Given the description of an element on the screen output the (x, y) to click on. 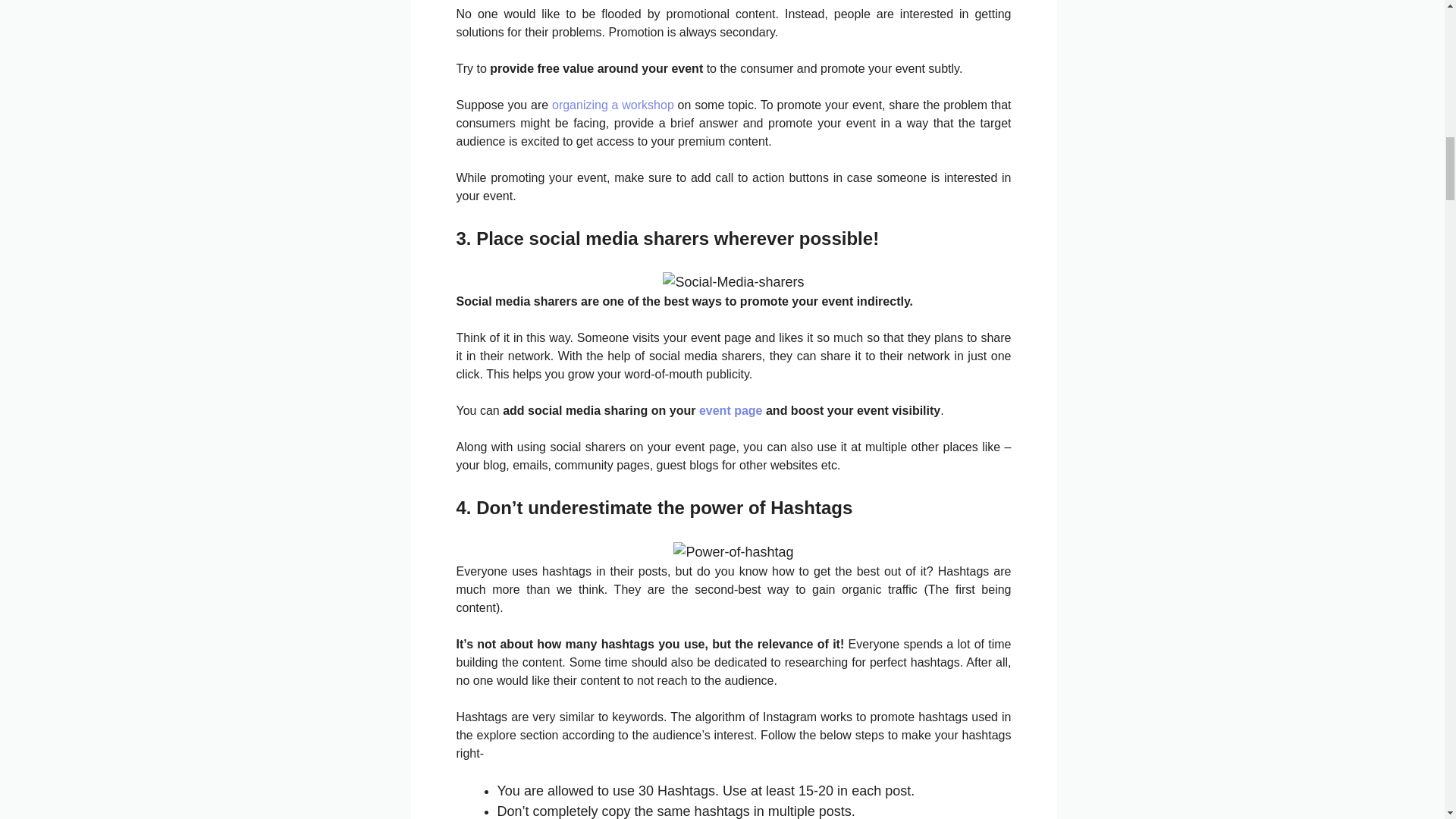
Use hashtags to promote an event (732, 552)
event page (730, 410)
organizing a workshop (612, 104)
add social media sharers to promote an event   (732, 281)
